Given the description of an element on the screen output the (x, y) to click on. 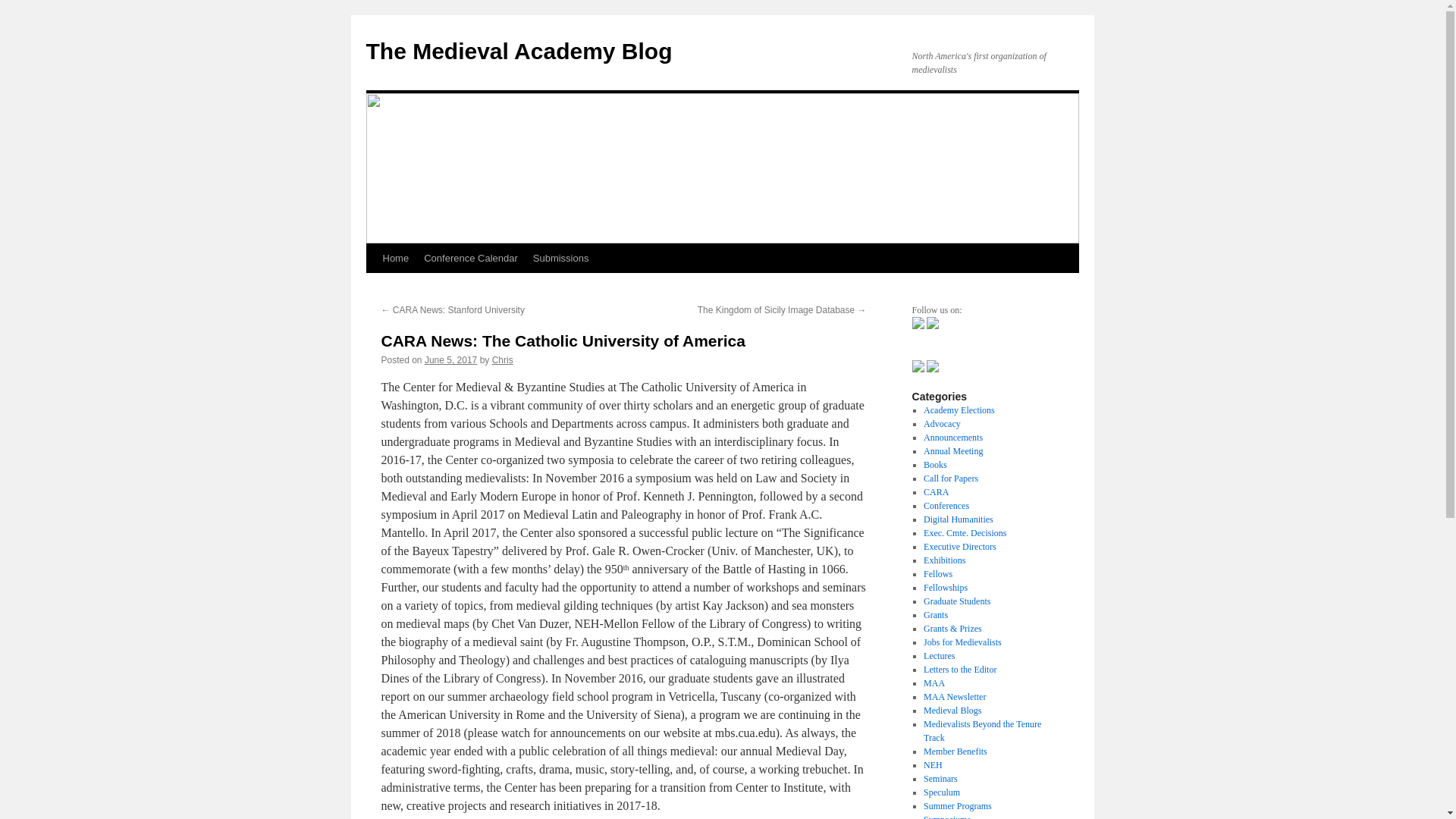
2:24 pm (451, 359)
Chris (502, 359)
Lectures (939, 655)
CARA (936, 491)
Fellowships (945, 587)
Grants (935, 614)
June 5, 2017 (451, 359)
Academy Elections (958, 409)
Announcements (952, 437)
Fellows (937, 573)
